Given the description of an element on the screen output the (x, y) to click on. 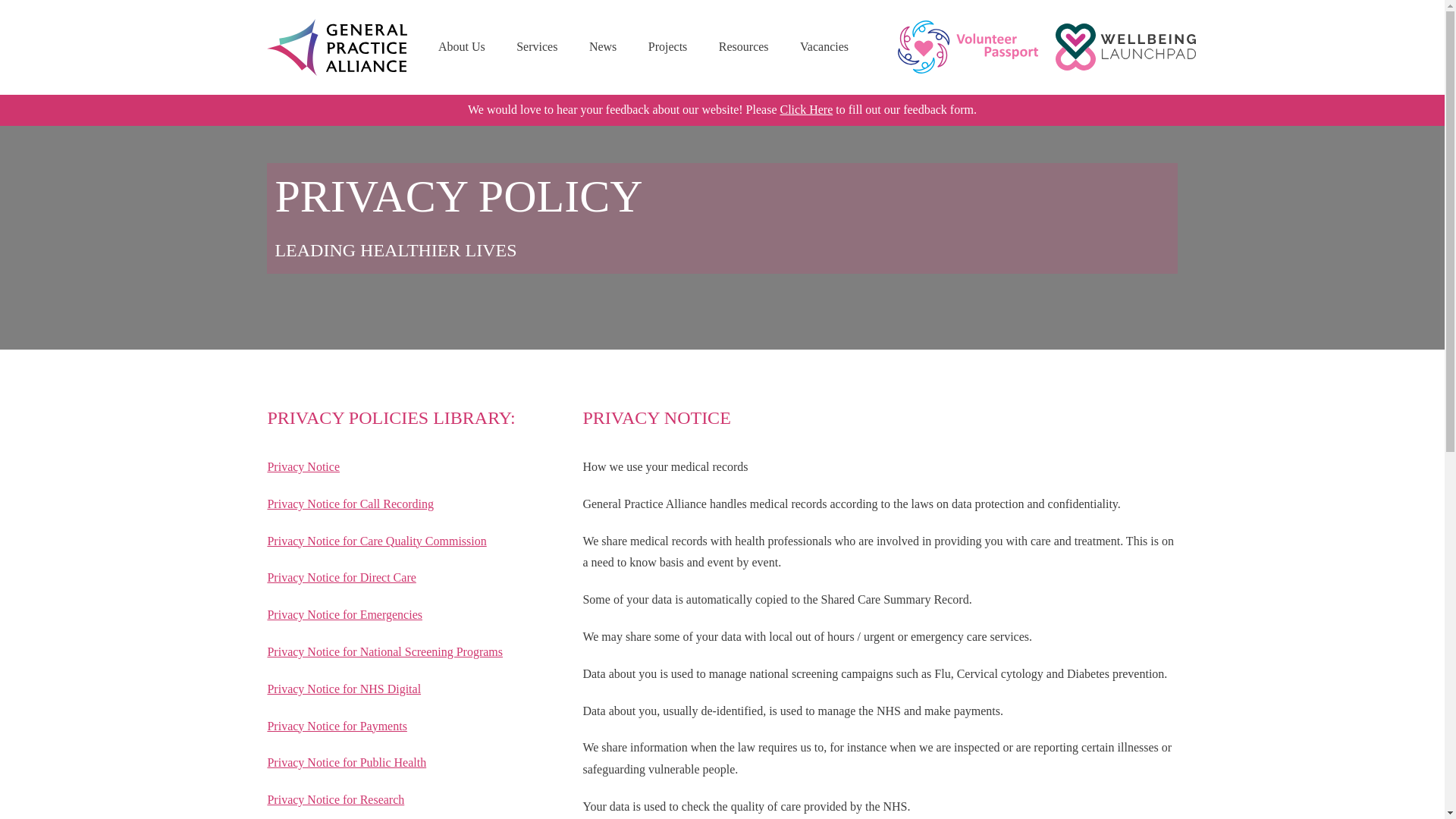
Vacancies (823, 46)
About Us (461, 46)
Resources (743, 46)
